Given the description of an element on the screen output the (x, y) to click on. 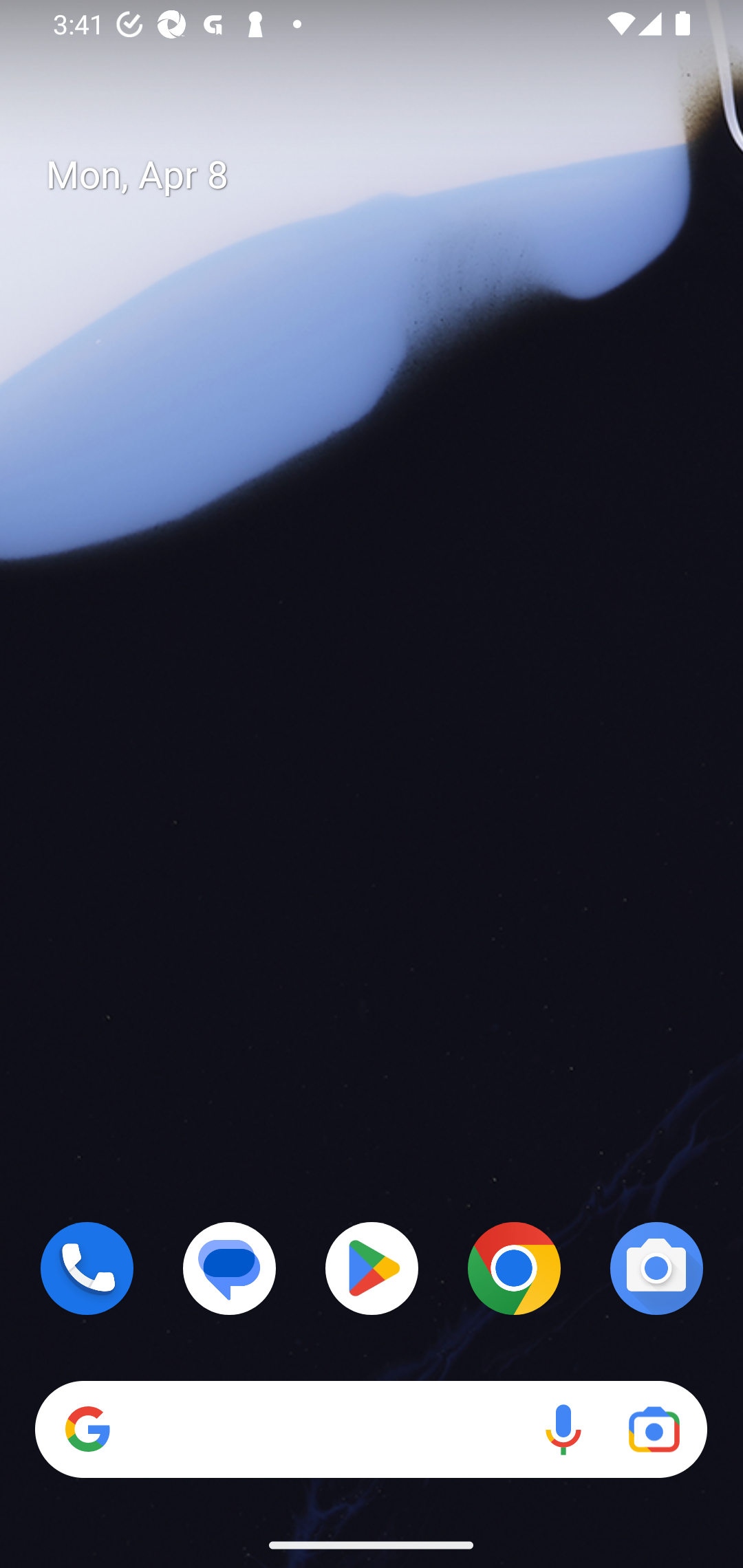
Mon, Apr 8 (386, 175)
Phone (86, 1268)
Messages (229, 1268)
Play Store (371, 1268)
Chrome (513, 1268)
Camera (656, 1268)
Search Voice search Google Lens (370, 1429)
Voice search (562, 1429)
Google Lens (653, 1429)
